Given the description of an element on the screen output the (x, y) to click on. 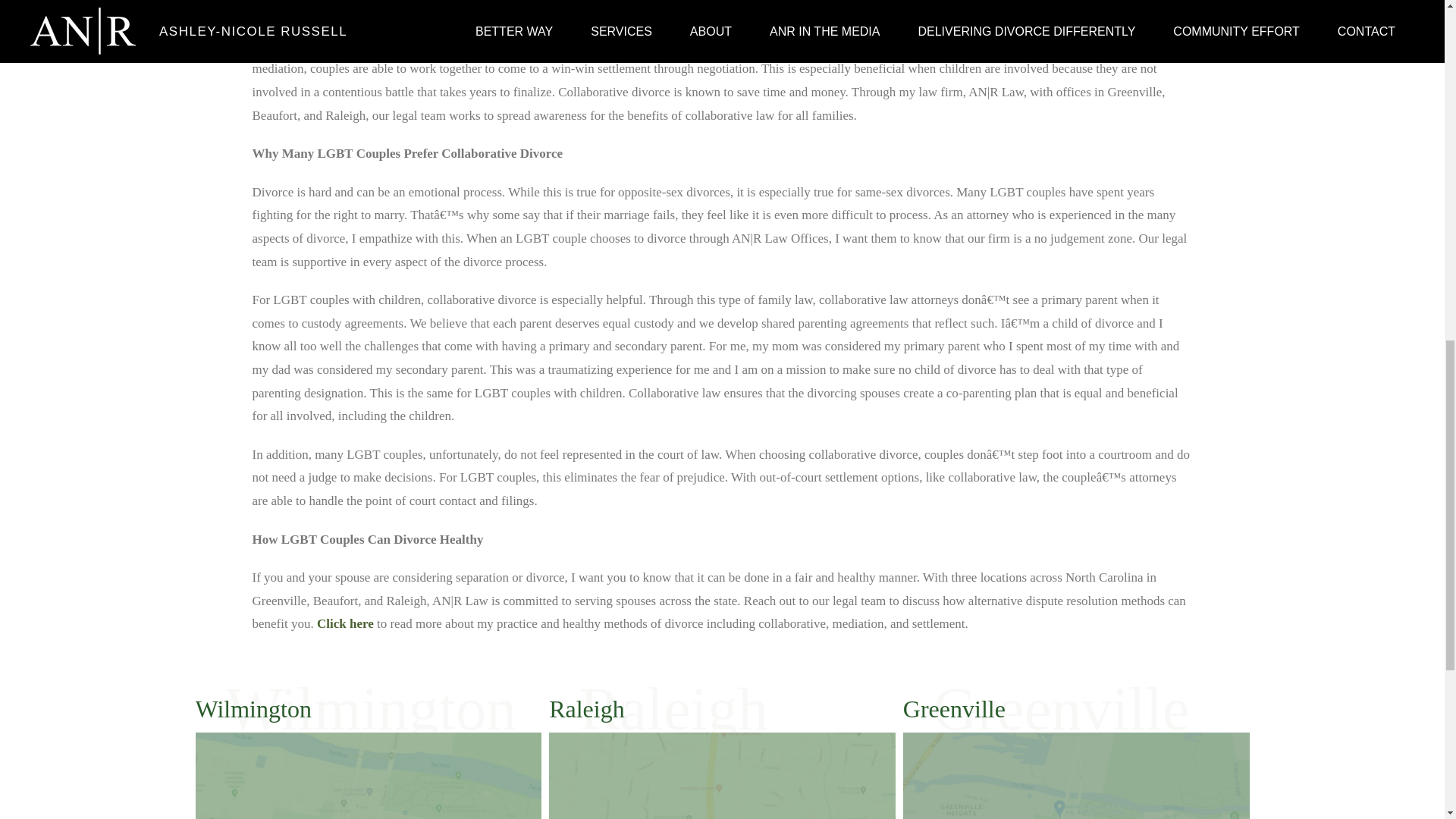
Click here (1075, 775)
